Given the description of an element on the screen output the (x, y) to click on. 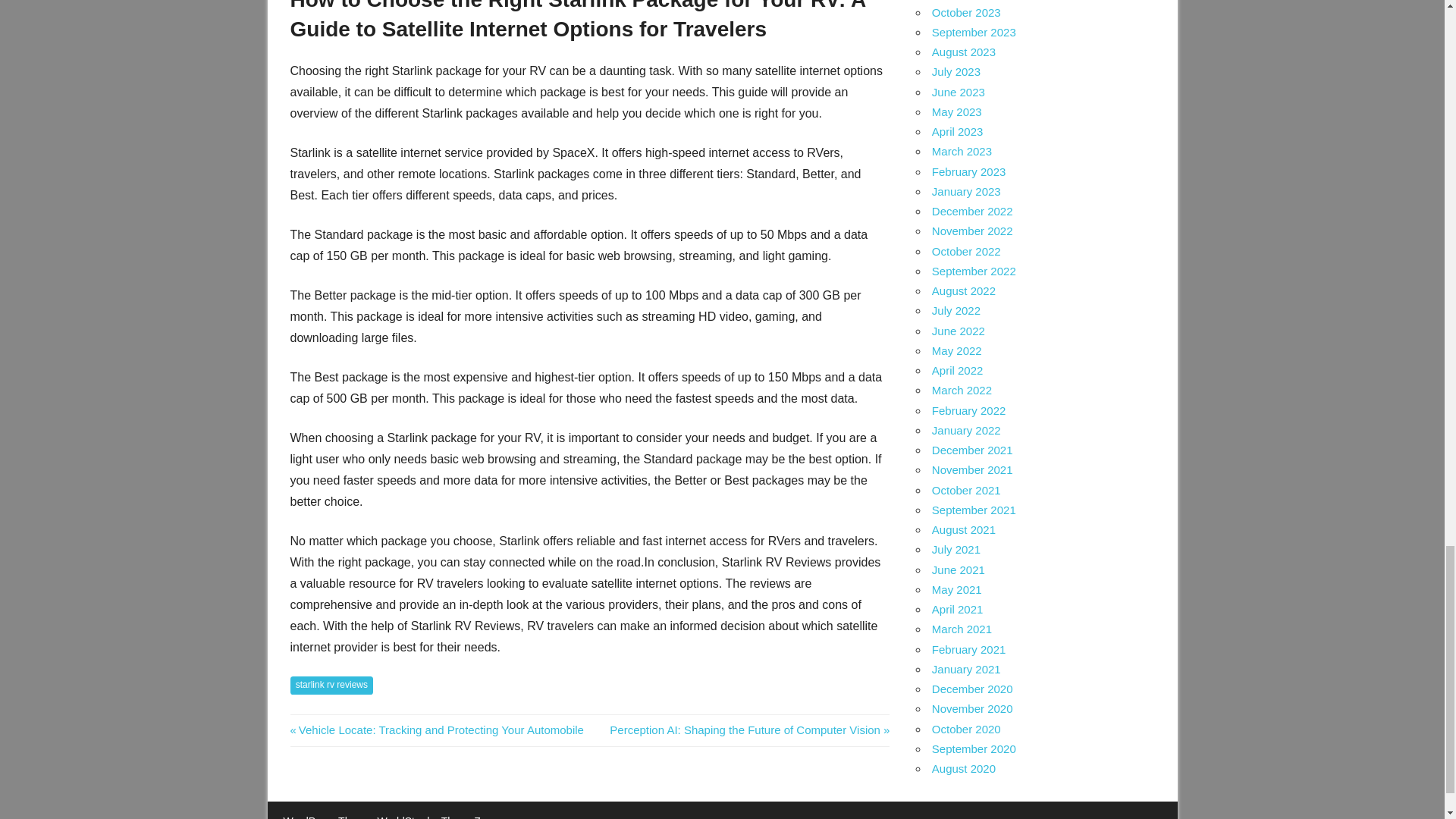
starlink rv reviews (330, 685)
